Given the description of an element on the screen output the (x, y) to click on. 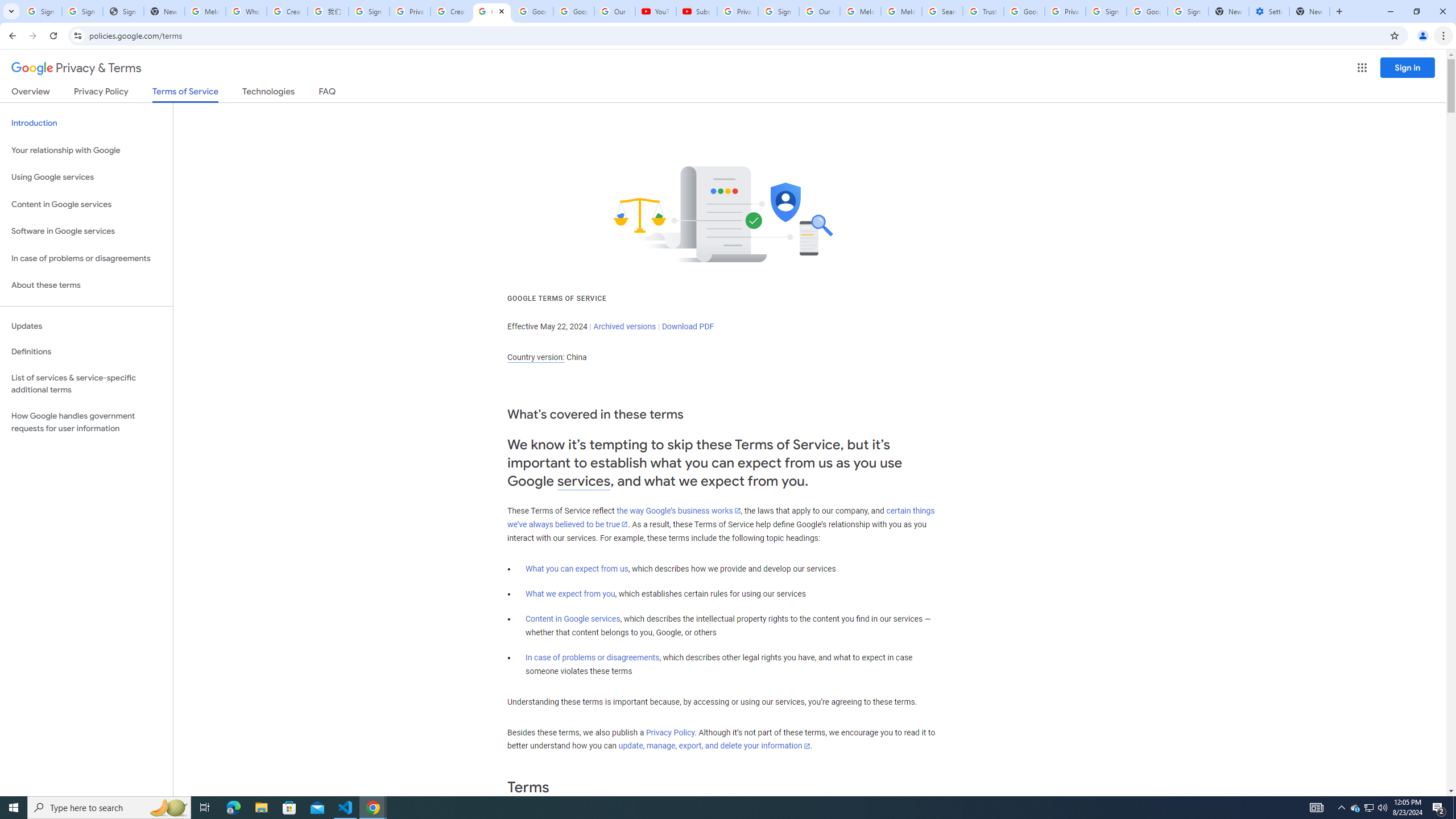
How Google handles government requests for user information (86, 422)
New Tab (1309, 11)
Sign in - Google Accounts (368, 11)
Subscriptions - YouTube (696, 11)
Who is my administrator? - Google Account Help (246, 11)
FAQ (327, 93)
Your relationship with Google (86, 150)
services (583, 480)
Search our Doodle Library Collection - Google Doodles (942, 11)
